Given the description of an element on the screen output the (x, y) to click on. 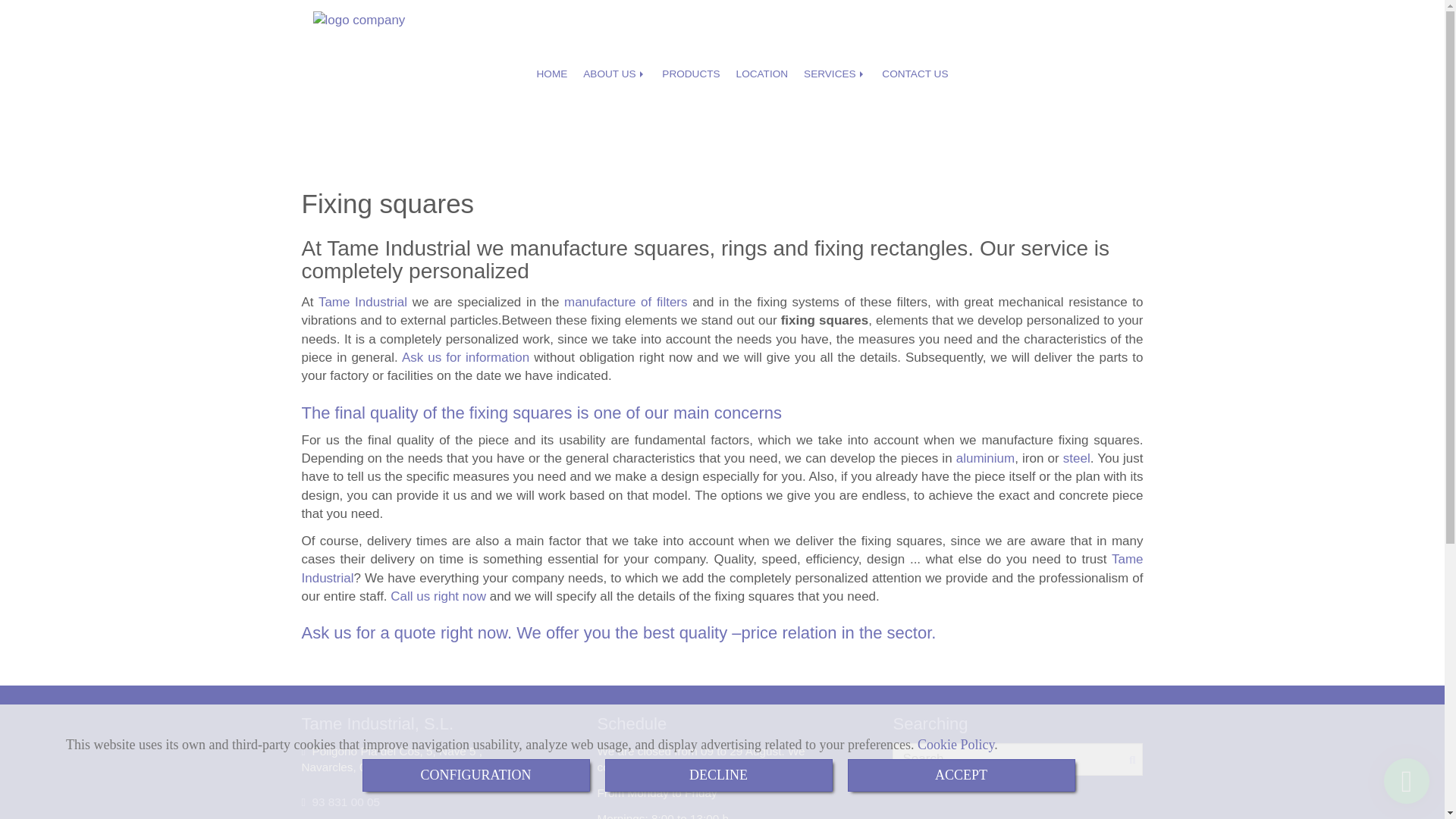
ACCEPT (961, 775)
DECLINE (718, 775)
CONFIGURATION (475, 775)
ABOUT US (614, 73)
LOCATION (761, 73)
Cookie Policy (955, 744)
PRODUCTS (689, 73)
SERVICES (834, 73)
HOME (552, 73)
